Given the description of an element on the screen output the (x, y) to click on. 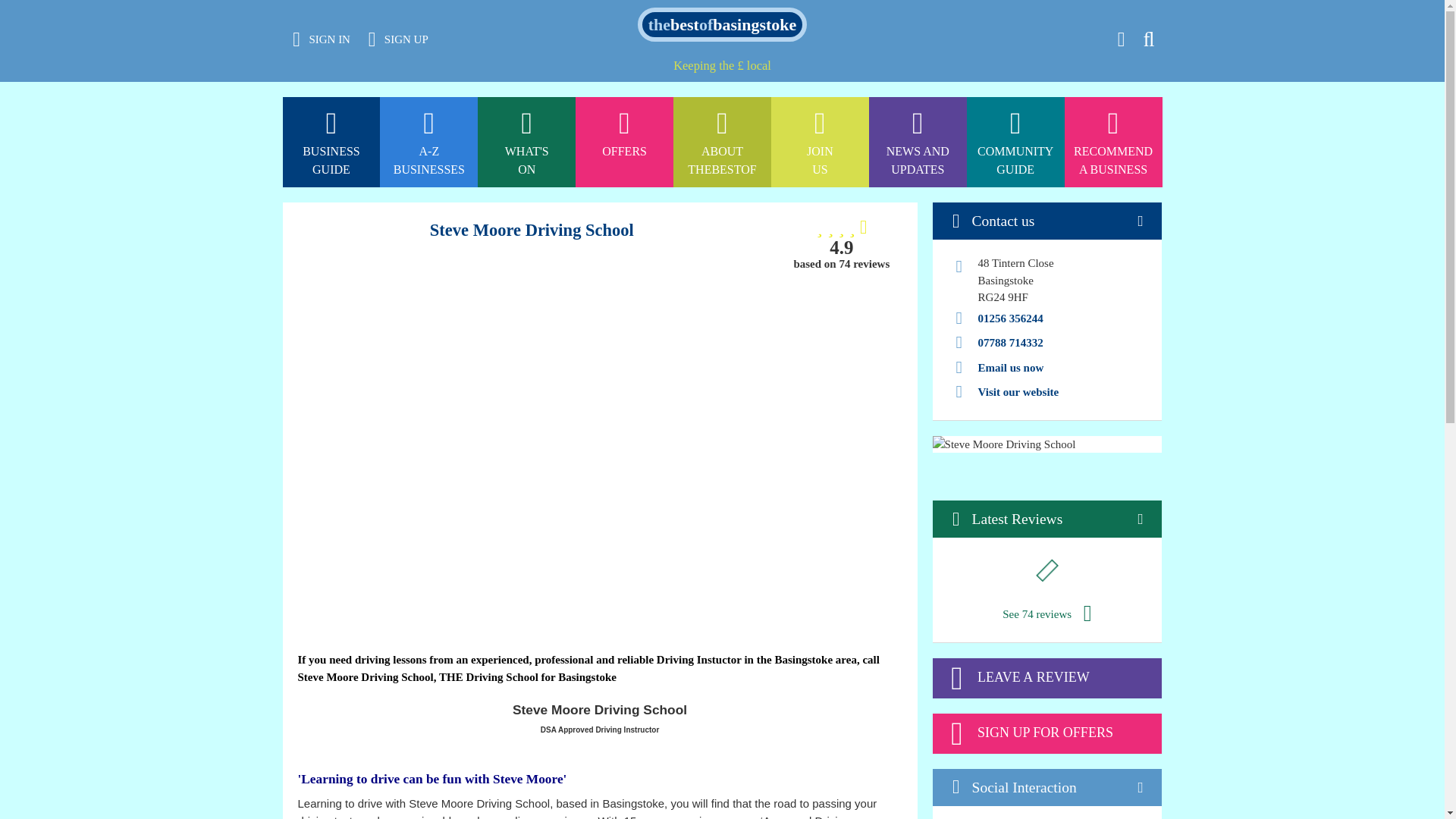
thebestofbasingstoke (721, 142)
OFFERS (721, 24)
01256 356244 (917, 7)
